Given the description of an element on the screen output the (x, y) to click on. 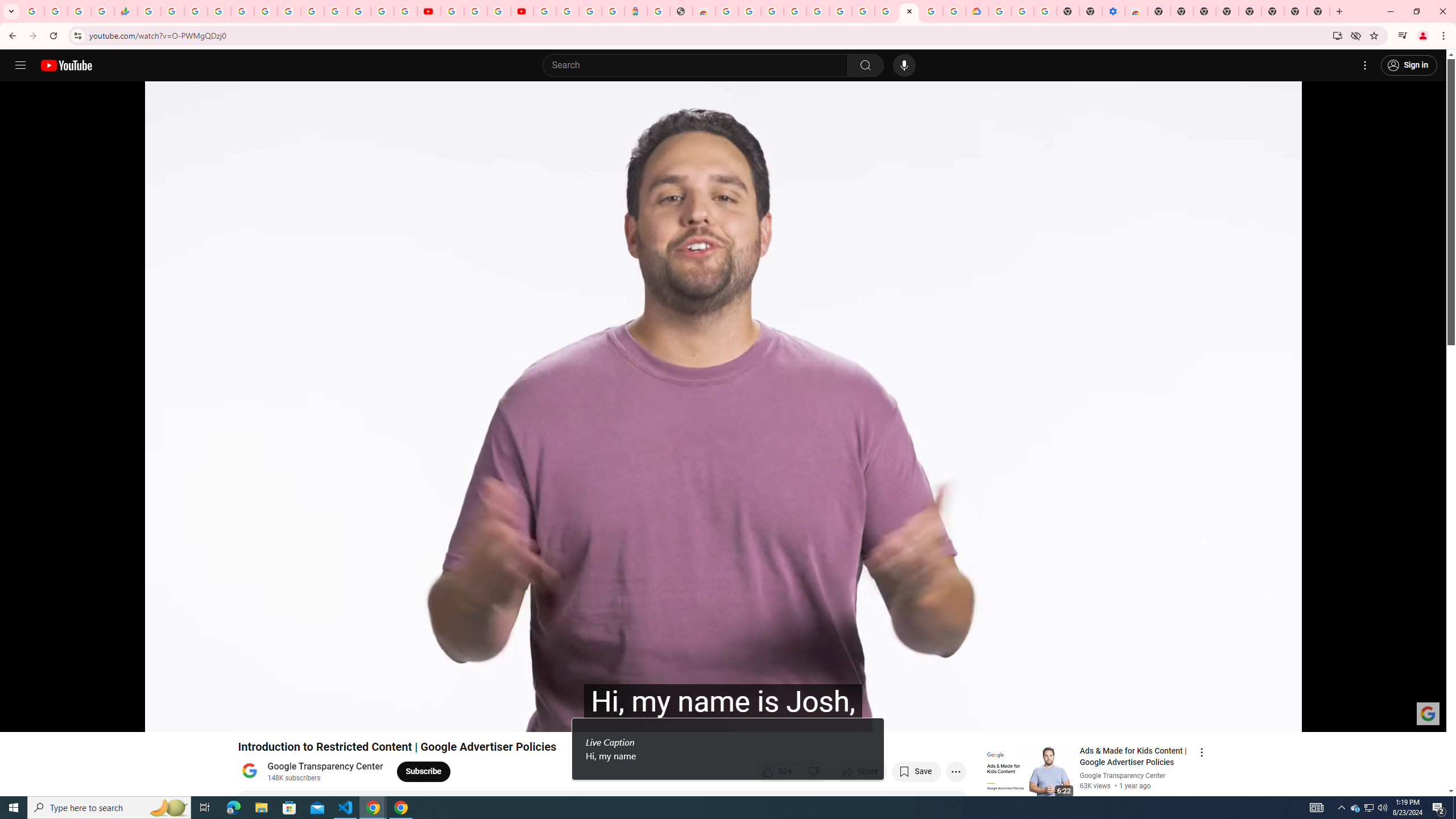
Create your Google Account (749, 11)
Search (865, 65)
Search with your voice (903, 65)
Introduction (157, 718)
Create your Google Account (931, 11)
like this video along with 534 other people (777, 771)
Settings (1343, 718)
Channel watermark (1427, 713)
